Given the description of an element on the screen output the (x, y) to click on. 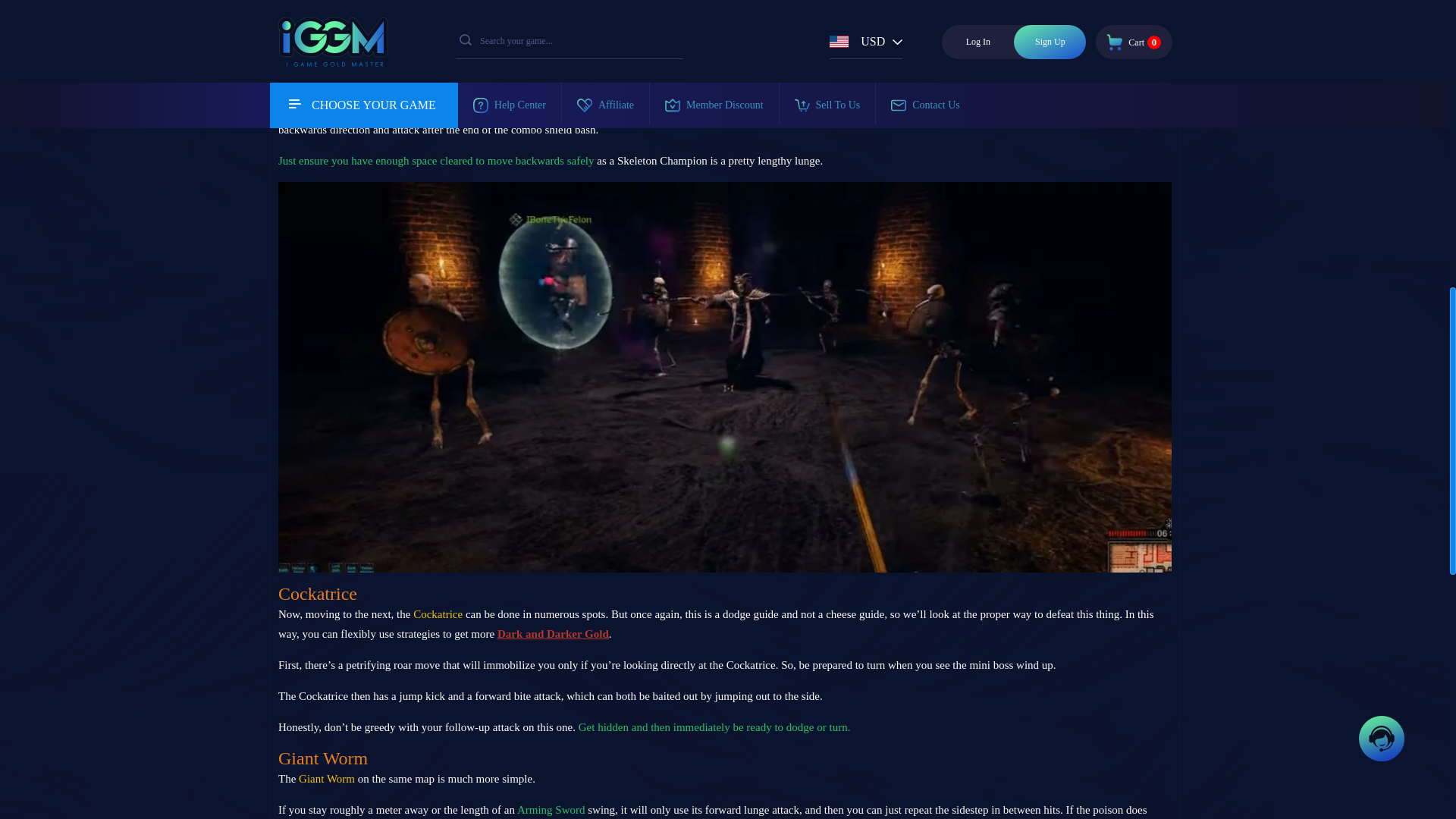
Dark and Darker Gold (552, 633)
